Given the description of an element on the screen output the (x, y) to click on. 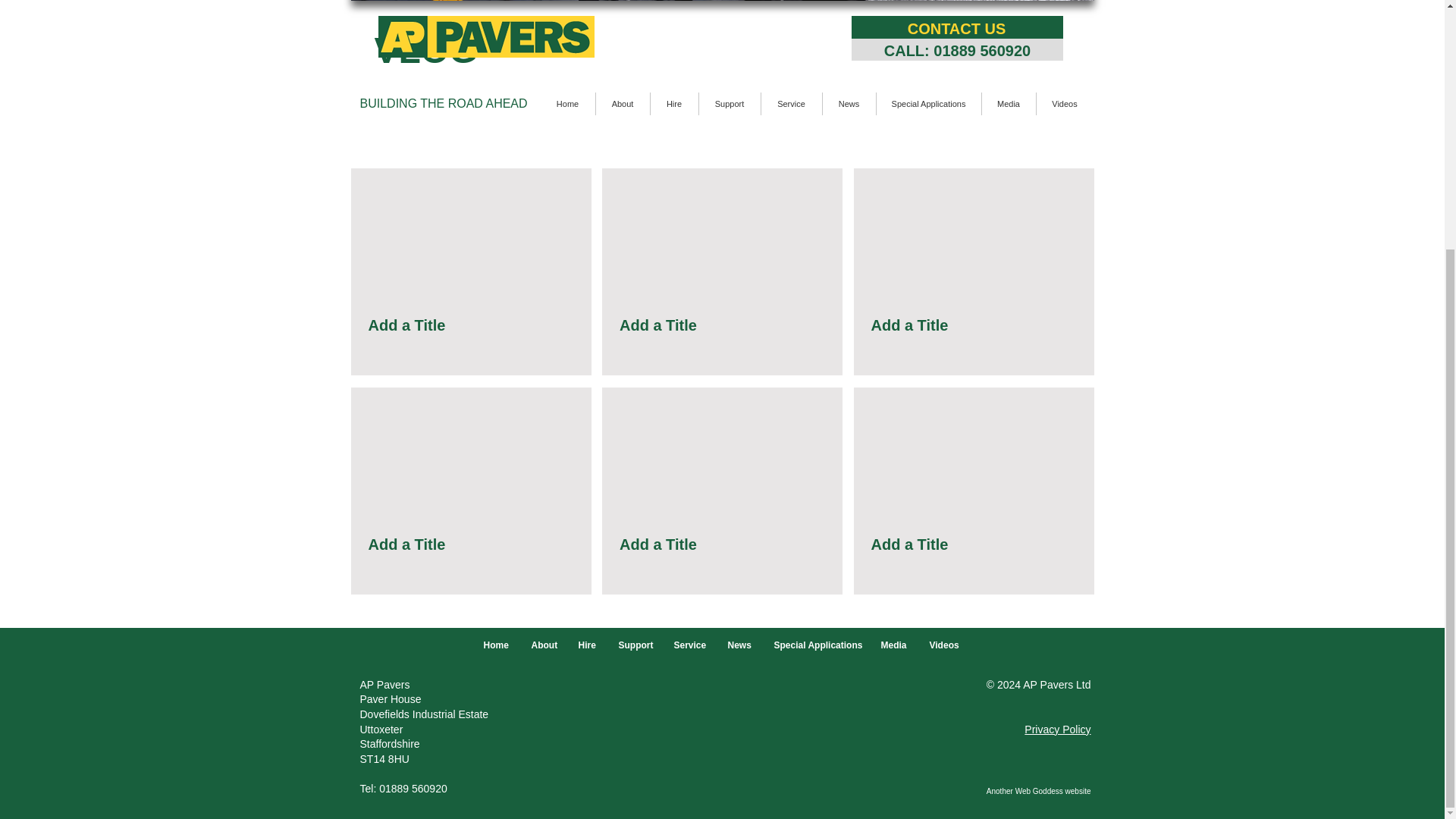
Service (689, 645)
Home (495, 645)
Special Applications (815, 645)
Support (634, 645)
Hire (587, 645)
Videos (943, 645)
Web Goddess website (1052, 791)
News (738, 645)
Privacy Policy (1057, 729)
Media (893, 645)
